Given the description of an element on the screen output the (x, y) to click on. 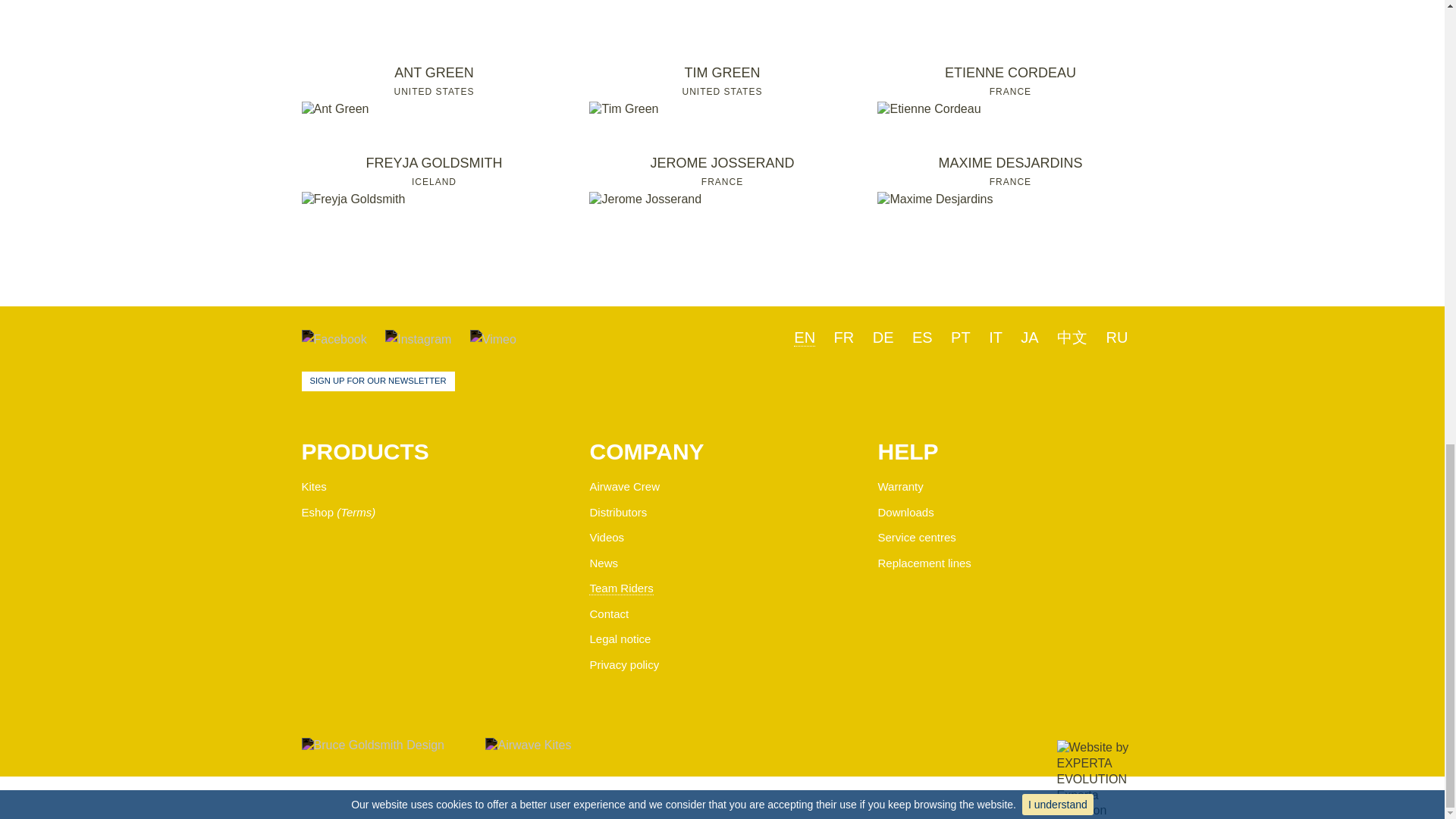
Ant Green (335, 109)
FR (844, 337)
Kites (313, 486)
ES (922, 337)
EN (804, 337)
RU (434, 90)
JA (1117, 337)
